Given the description of an element on the screen output the (x, y) to click on. 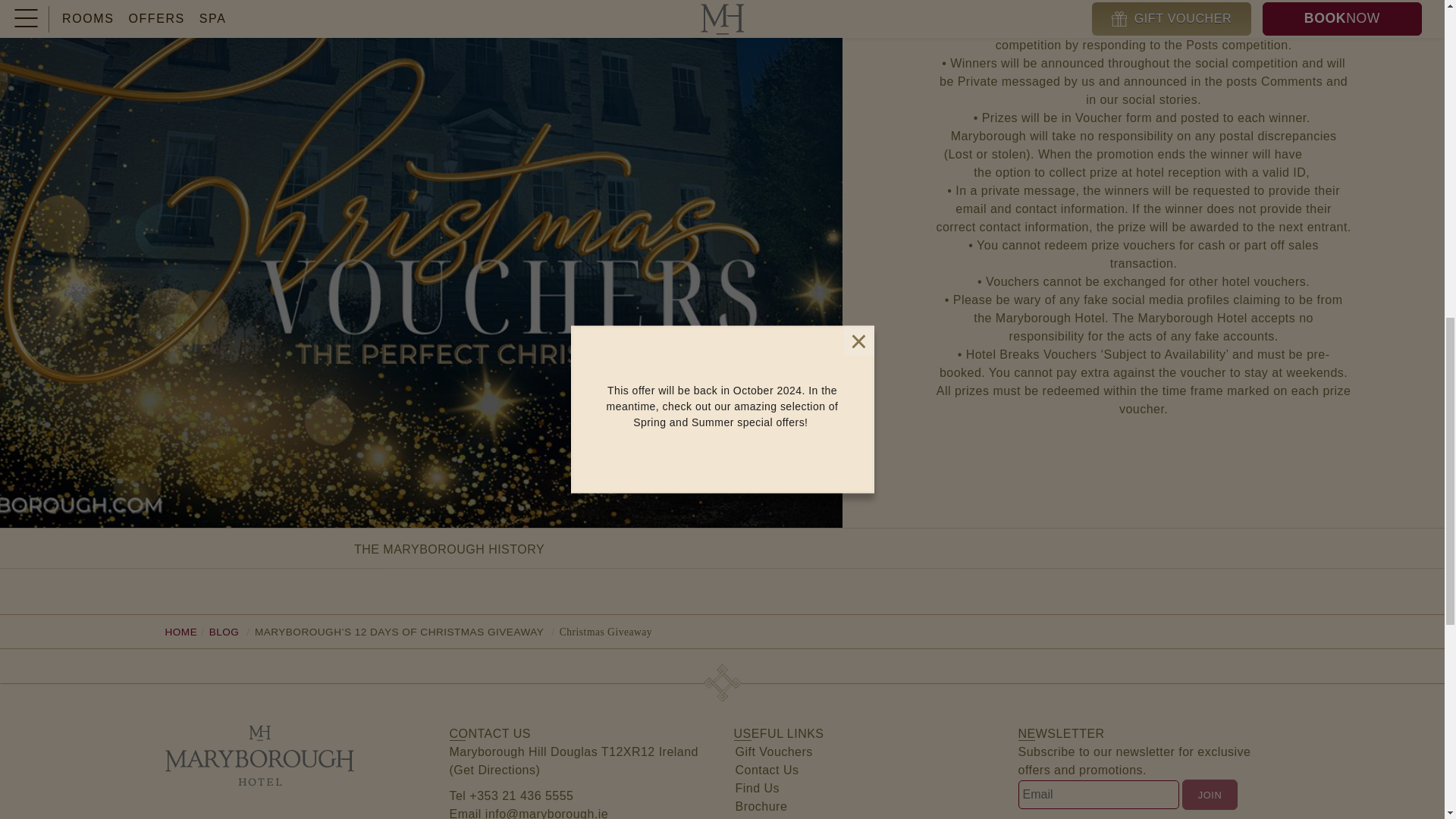
Join (1209, 794)
